Given the description of an element on the screen output the (x, y) to click on. 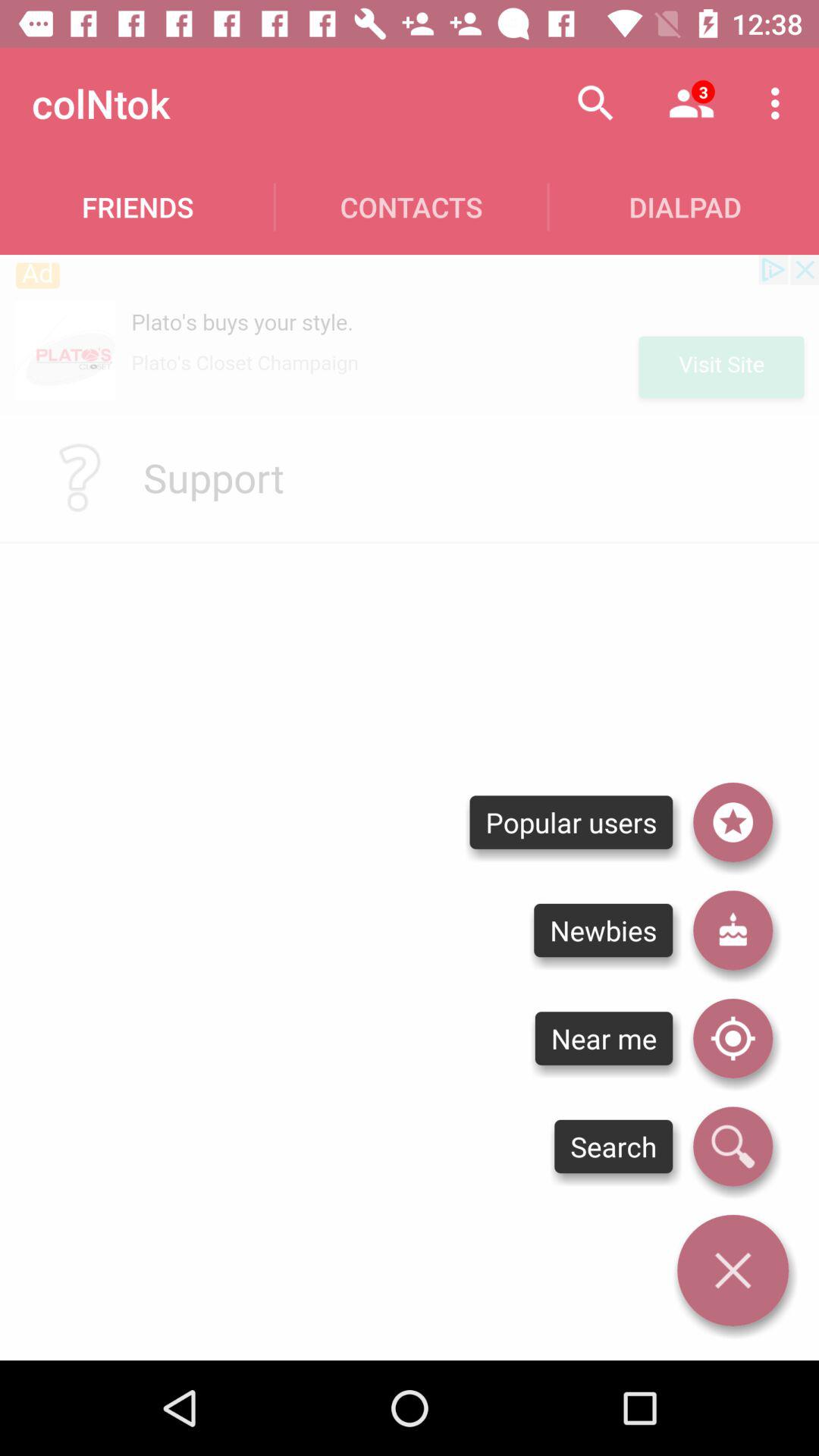
click the icon above the dialpad item (779, 103)
